Given the description of an element on the screen output the (x, y) to click on. 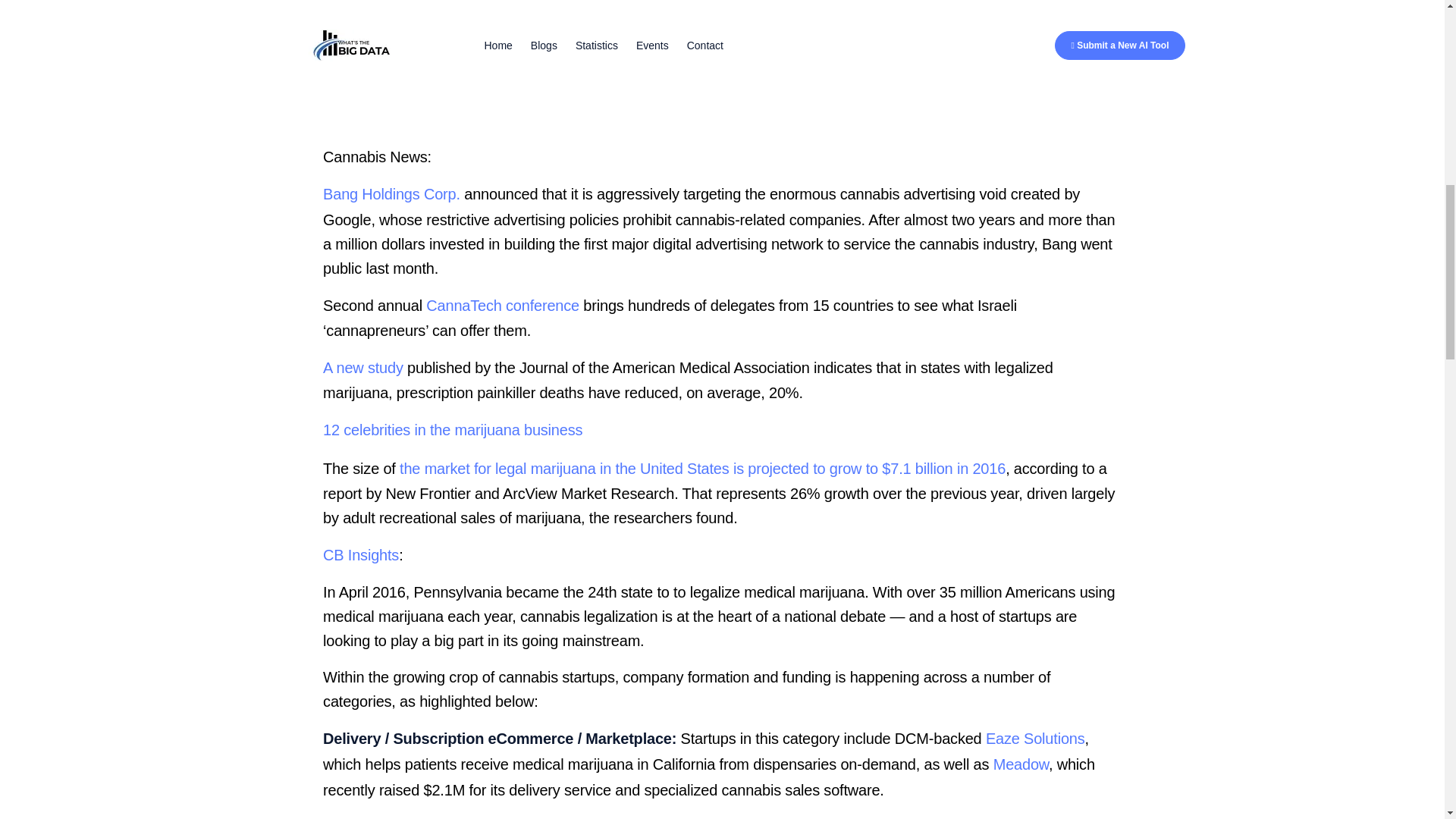
Eaze Solutions (1034, 738)
A new study (363, 367)
Bang Holdings Corp. (391, 193)
CannaTech conference (502, 305)
12 celebrities in the marijuana business (452, 429)
Meadow (1020, 764)
CB Insights (360, 555)
